Given the description of an element on the screen output the (x, y) to click on. 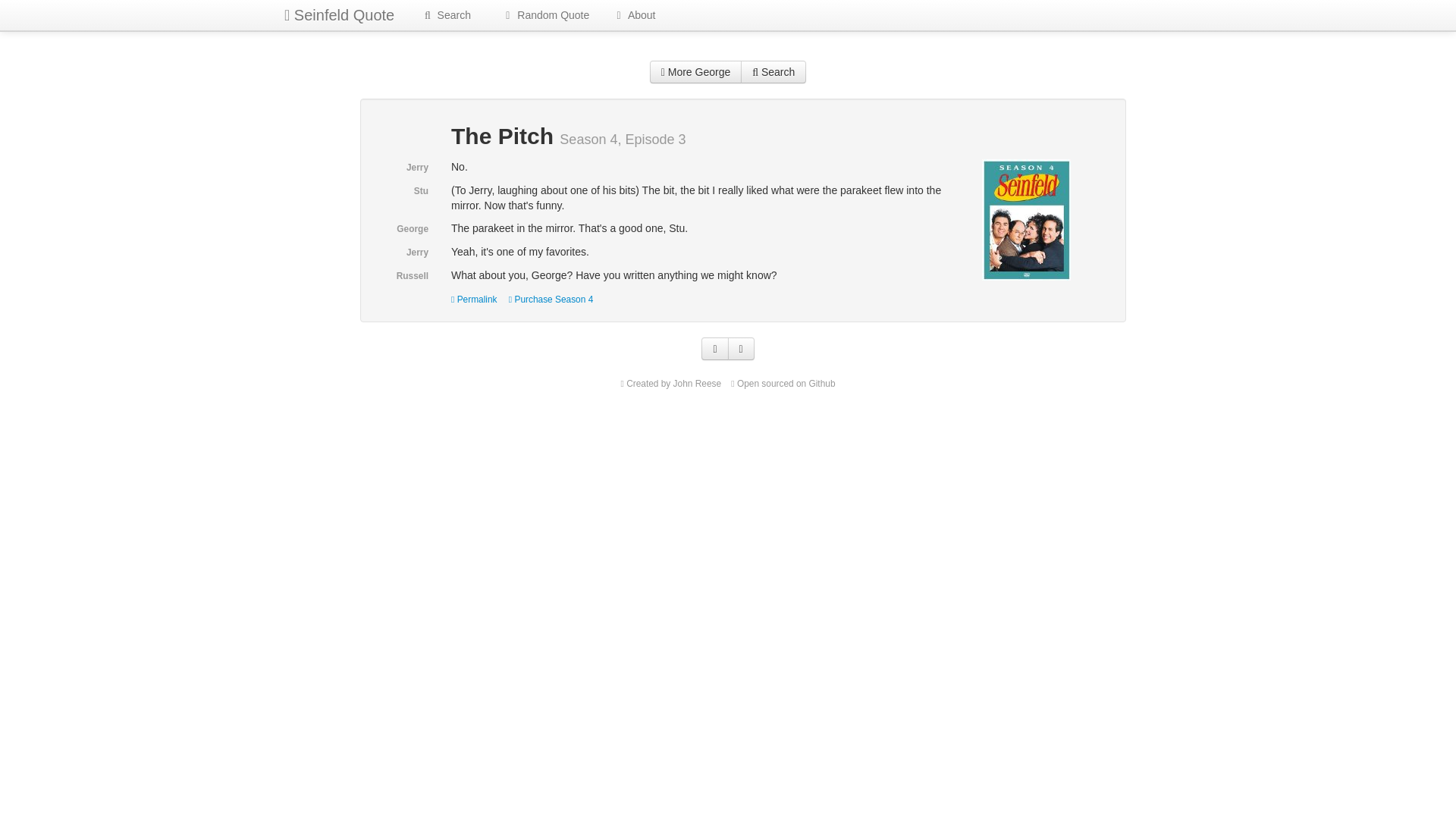
Created by John Reese (670, 383)
More George (695, 71)
Season 4 (1025, 218)
About (632, 15)
Purchase Season 4 (550, 299)
Open sourced on Github (782, 383)
Search (445, 15)
Permalink (474, 299)
Search (773, 71)
Random Quote (544, 15)
Seinfeld Quote (339, 15)
